Given the description of an element on the screen output the (x, y) to click on. 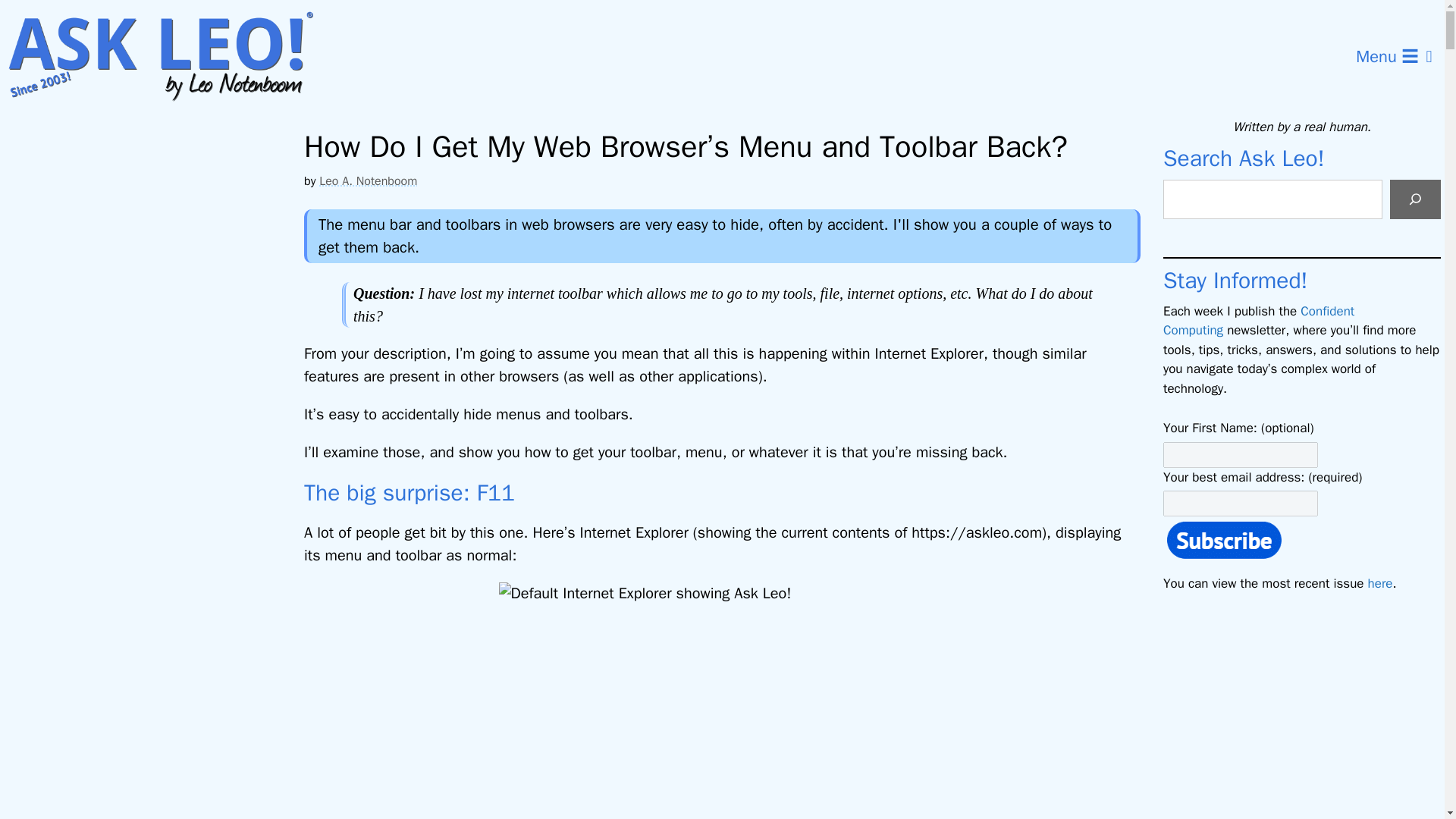
Leo A. Notenboom (367, 180)
Ask Leo! (170, 56)
Ask Leo! (165, 56)
